Given the description of an element on the screen output the (x, y) to click on. 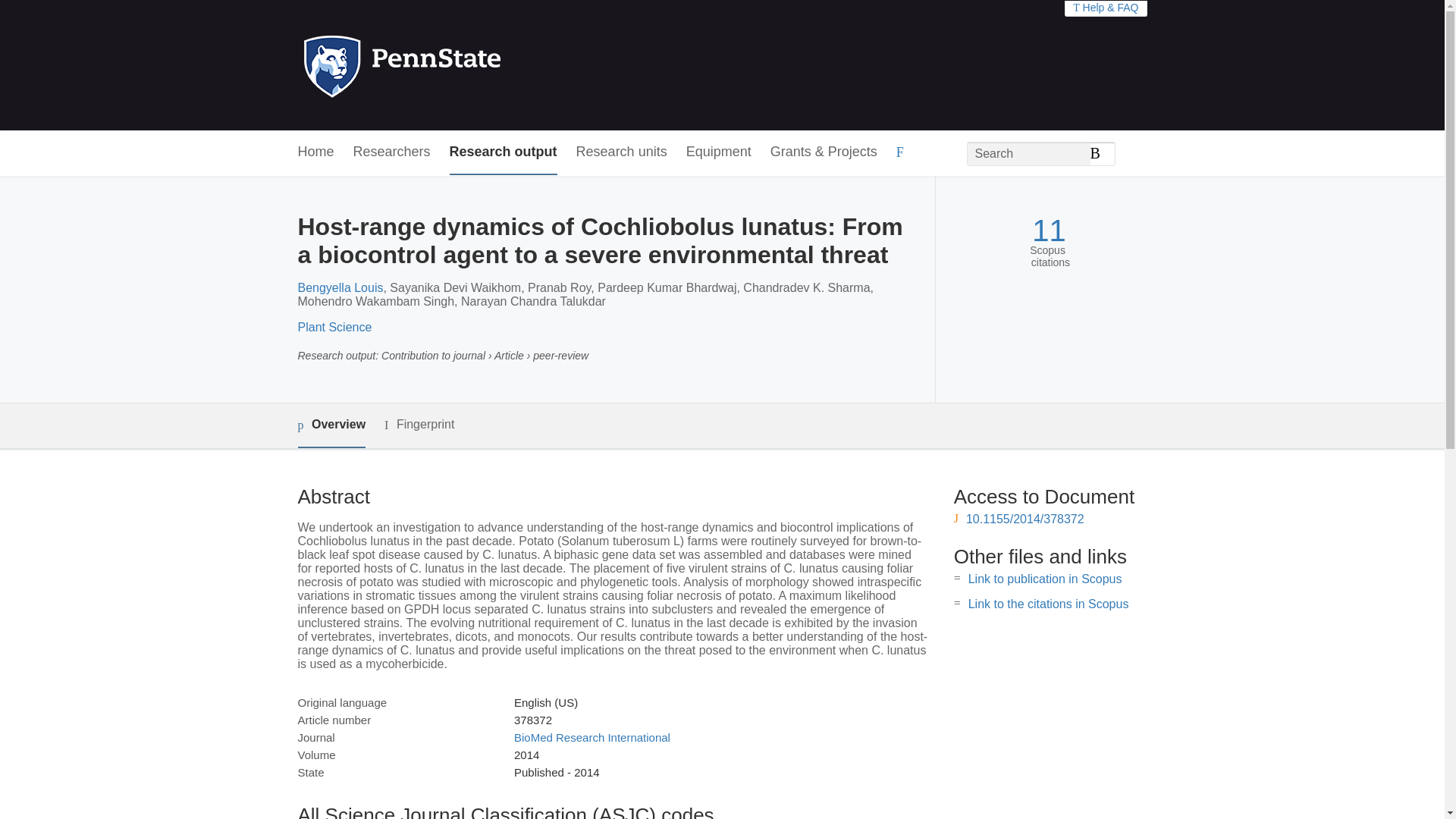
Research units (621, 152)
11 (1048, 230)
Bengyella Louis (339, 287)
Link to the citations in Scopus (1048, 603)
Equipment (718, 152)
Link to publication in Scopus (1045, 578)
Fingerprint (419, 424)
Penn State Home (467, 65)
Research output (503, 152)
